Given the description of an element on the screen output the (x, y) to click on. 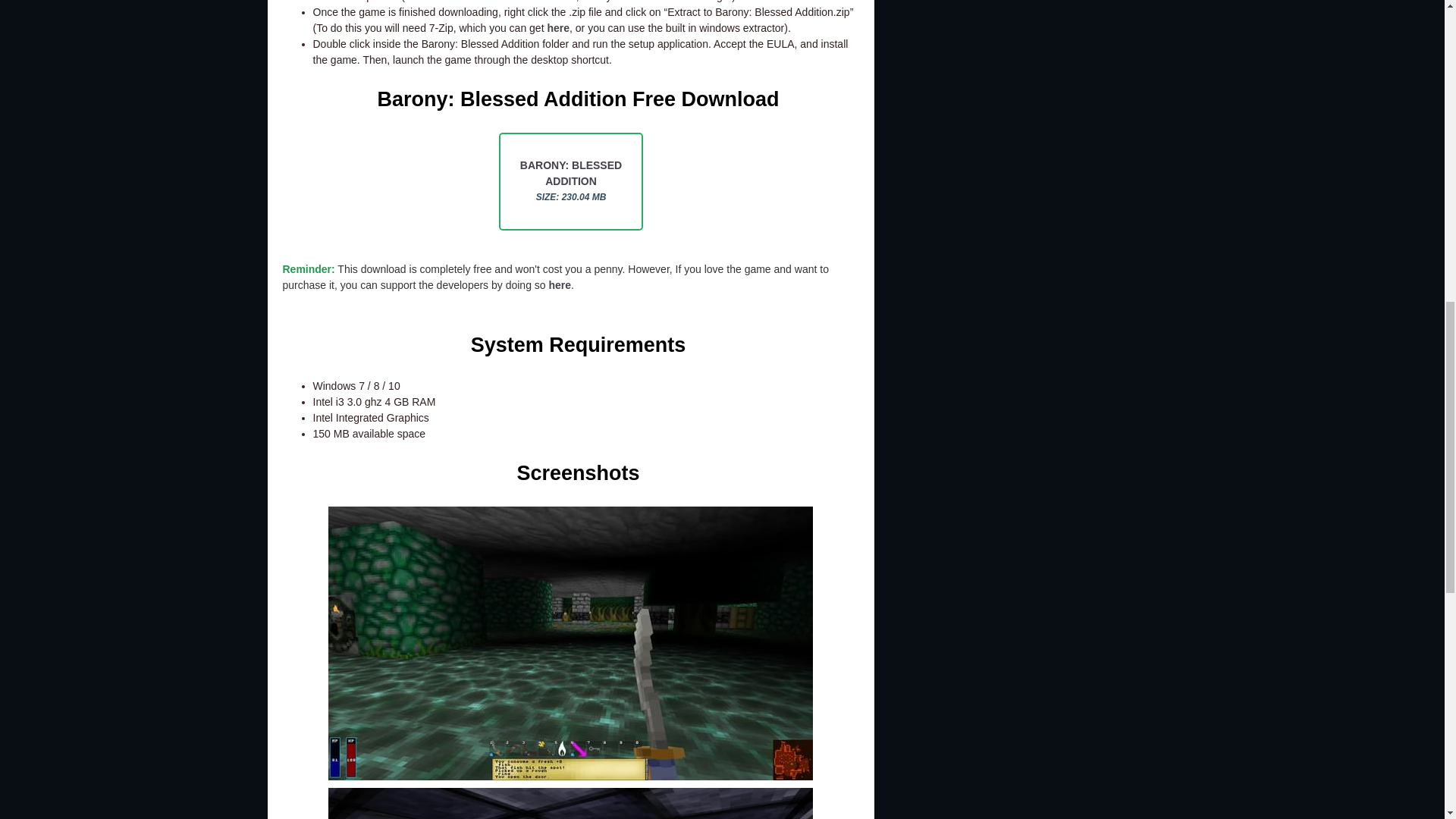
here (560, 285)
here (564, 1)
here (558, 28)
